Given the description of an element on the screen output the (x, y) to click on. 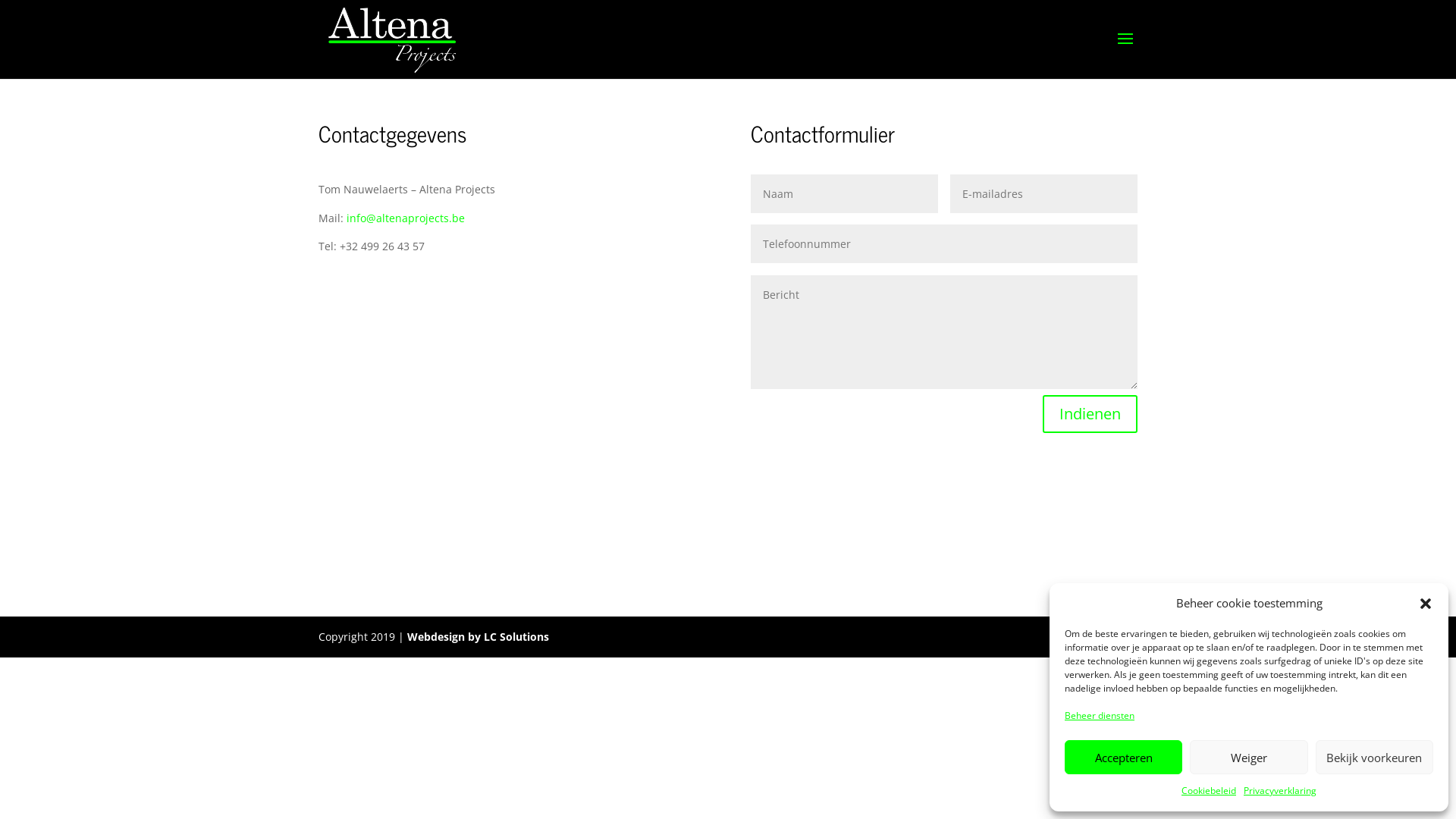
Beheer diensten Element type: text (1099, 715)
Bekijk voorkeuren Element type: text (1374, 757)
Webdesign by LC Solutions Element type: text (478, 636)
Privacyverklaring Element type: text (1279, 790)
Indienen Element type: text (1089, 414)
info@altenaprojects.be Element type: text (405, 217)
Cookiebeleid Element type: text (1208, 790)
Weiger Element type: text (1248, 757)
Accepteren Element type: text (1123, 757)
